Given the description of an element on the screen output the (x, y) to click on. 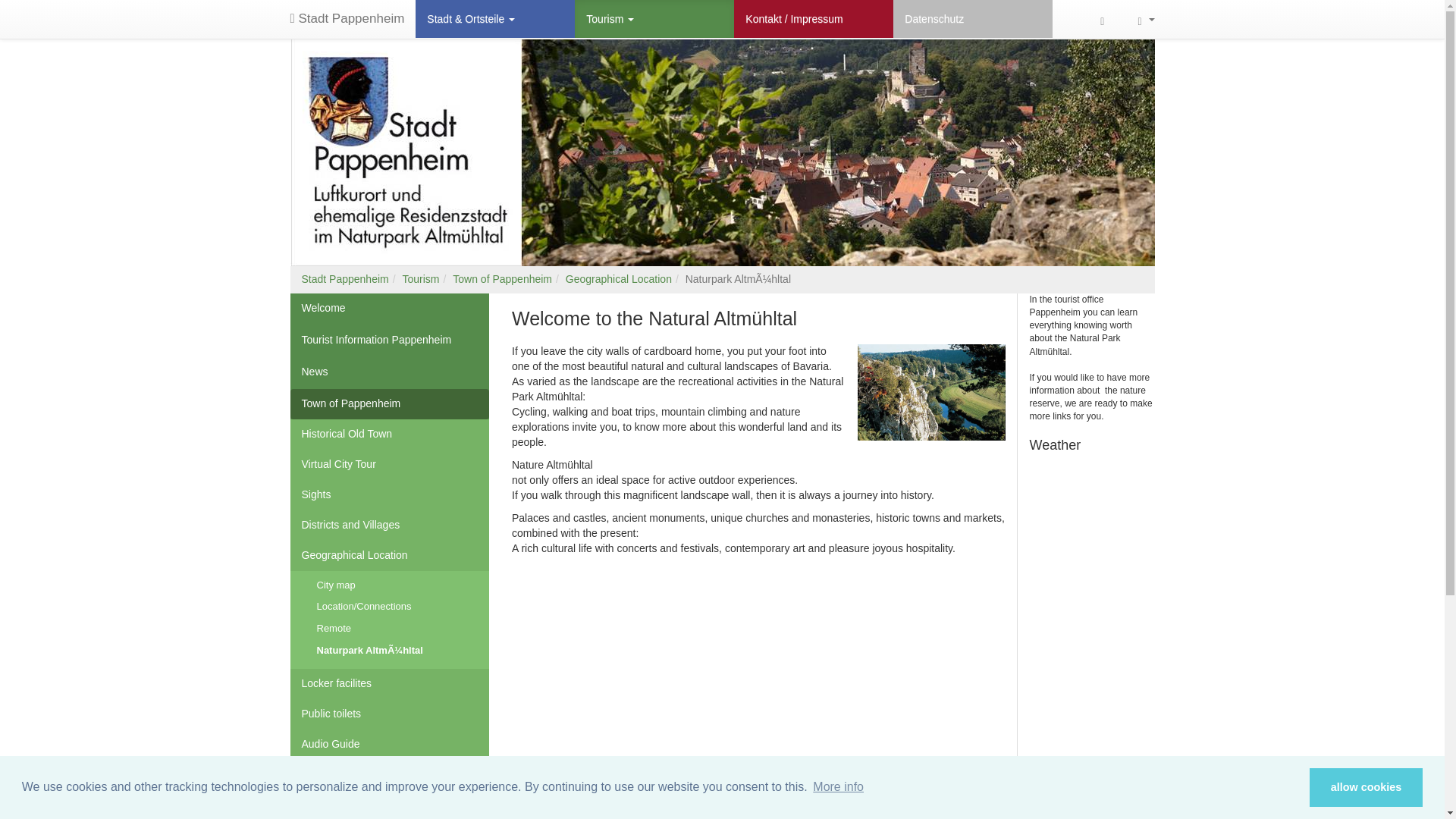
allow cookies (1365, 787)
More info (838, 786)
Stadt Pappenheim (347, 18)
Stadt Pappenheim (347, 18)
